Given the description of an element on the screen output the (x, y) to click on. 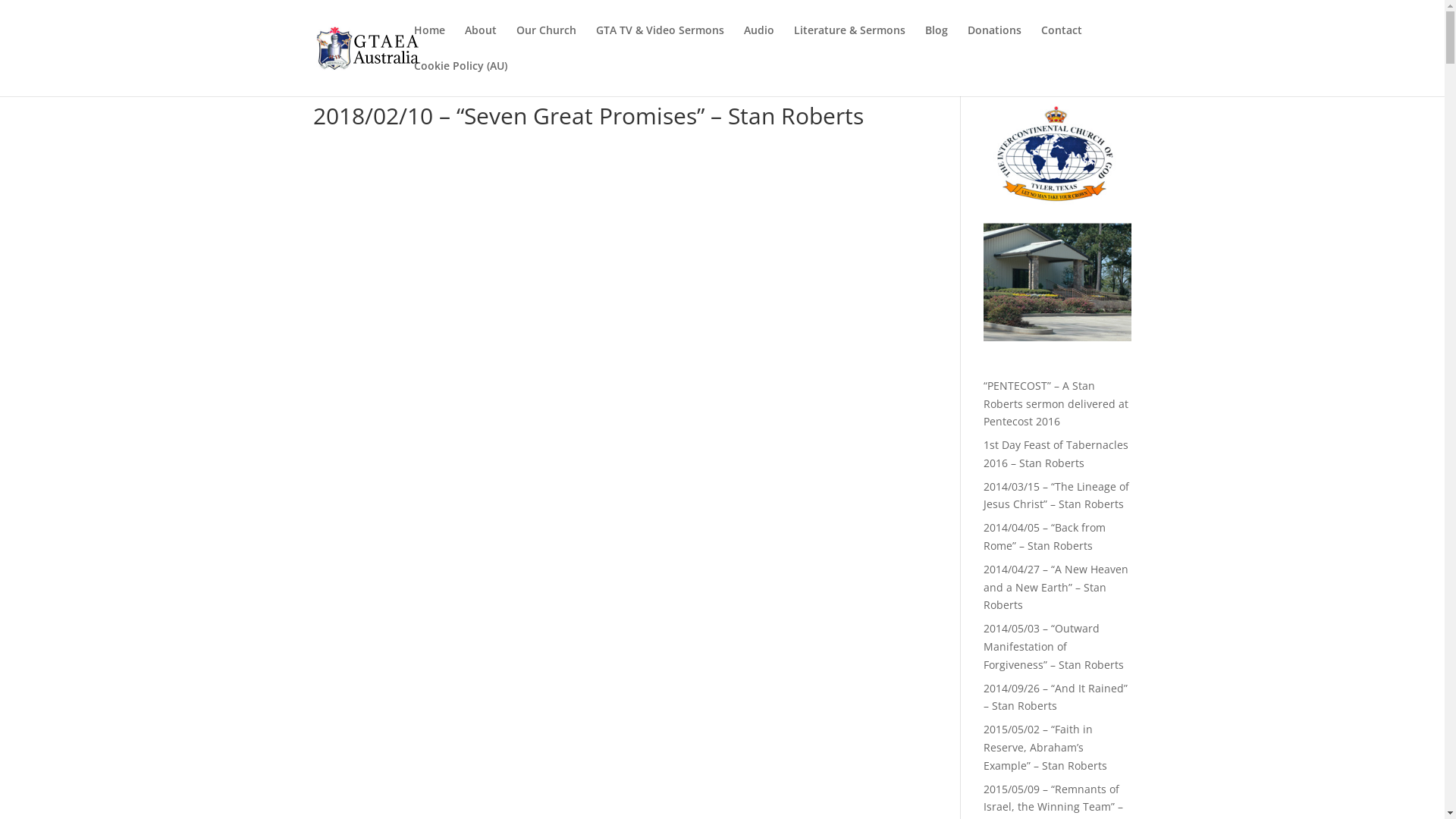
Blog Element type: text (936, 42)
GTA TV & Video Sermons Element type: text (660, 42)
Literature & Sermons Element type: text (848, 42)
Audio Element type: text (758, 42)
About Element type: text (479, 42)
Home Element type: text (429, 42)
Donations Element type: text (994, 42)
Cookie Policy (AU) Element type: text (460, 78)
Our Church Element type: text (545, 42)
Contact Element type: text (1060, 42)
